Given the description of an element on the screen output the (x, y) to click on. 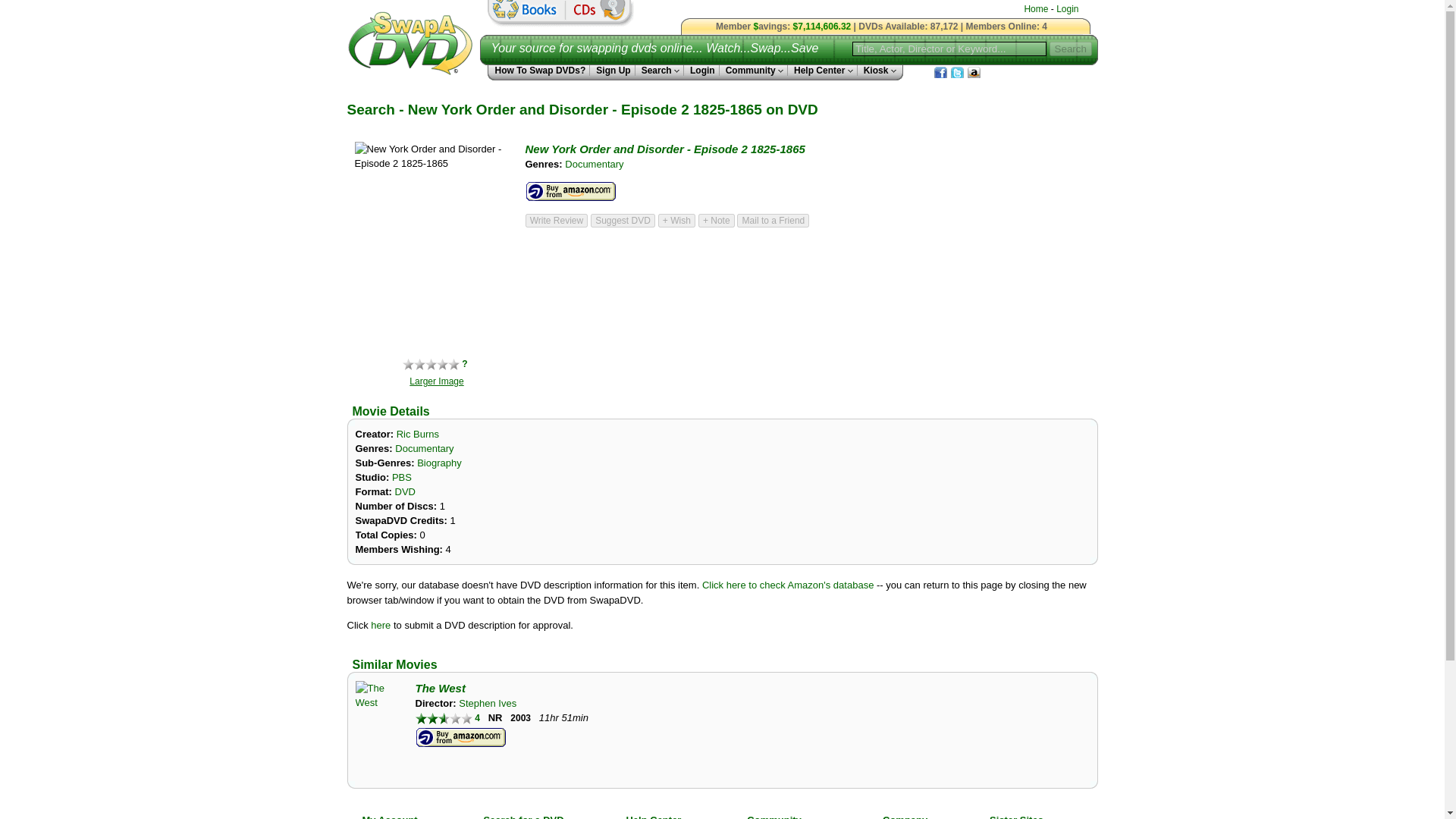
Suggest DVD (623, 220)
Home (1035, 9)
Search (1070, 48)
Sign Up (611, 70)
Write Review (556, 220)
Buy from Amazon (569, 191)
The Pulse of SwapaDVD (882, 26)
Mail to a Friend (772, 220)
Search (659, 70)
Help Center (822, 70)
Buy from Amazon (460, 737)
How To Swap DVDs? (538, 70)
Kiosk (876, 70)
Login (1067, 9)
Title, Actor, Director or Keyword... (948, 48)
